Given the description of an element on the screen output the (x, y) to click on. 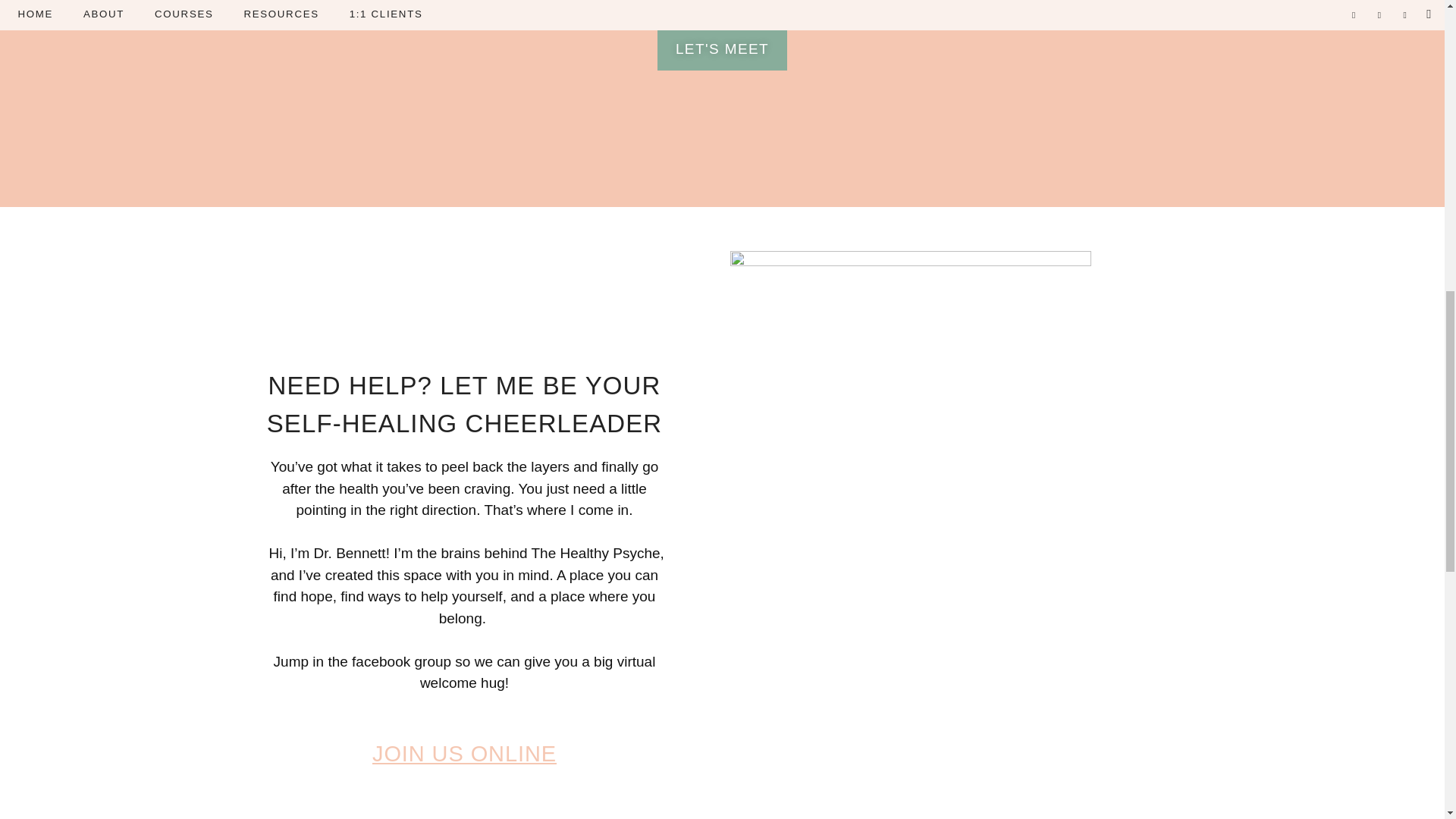
LET'S MEET (722, 48)
JOIN US ONLINE (464, 753)
